Given the description of an element on the screen output the (x, y) to click on. 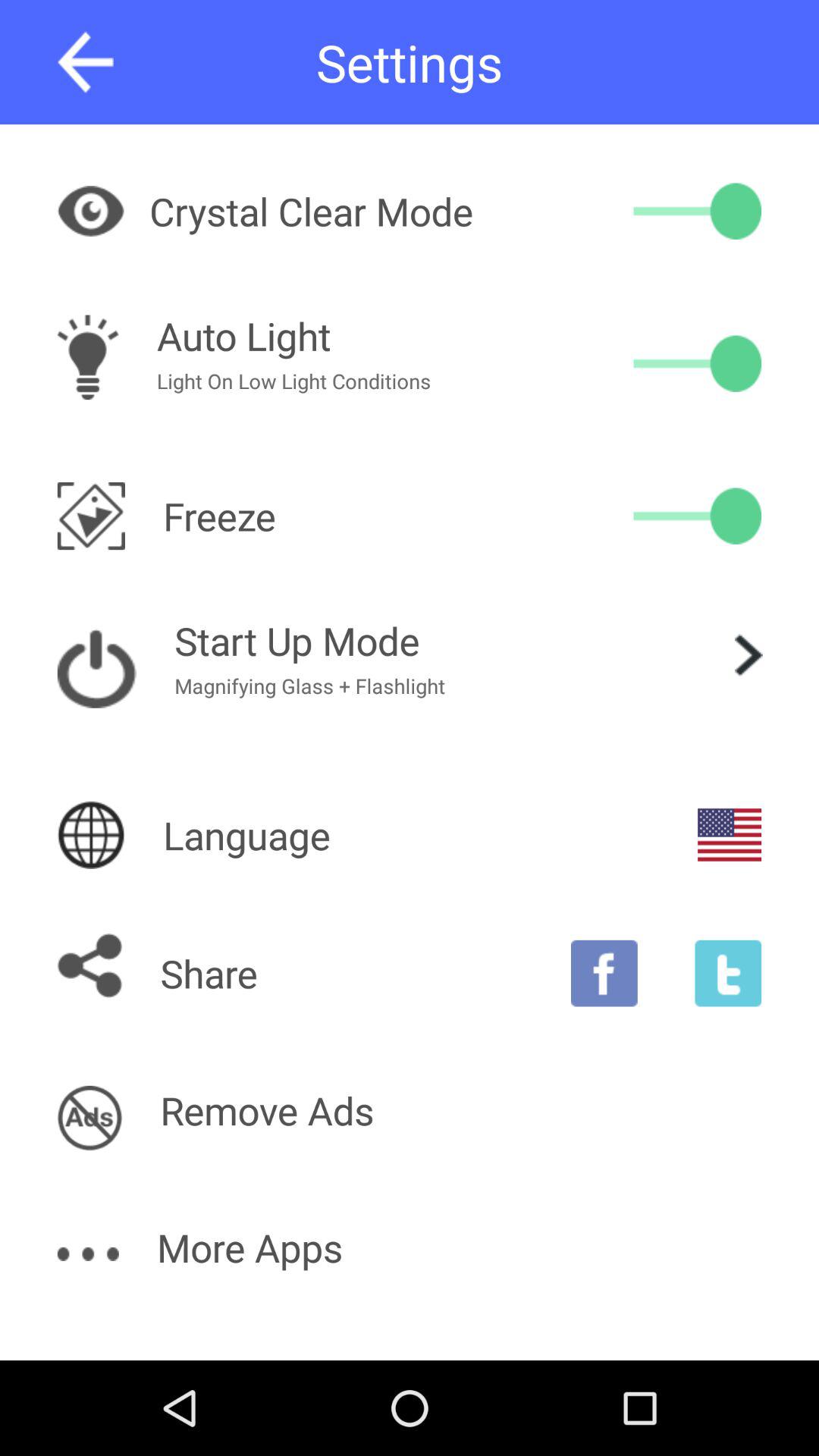
toggle autolight option (697, 363)
